Given the description of an element on the screen output the (x, y) to click on. 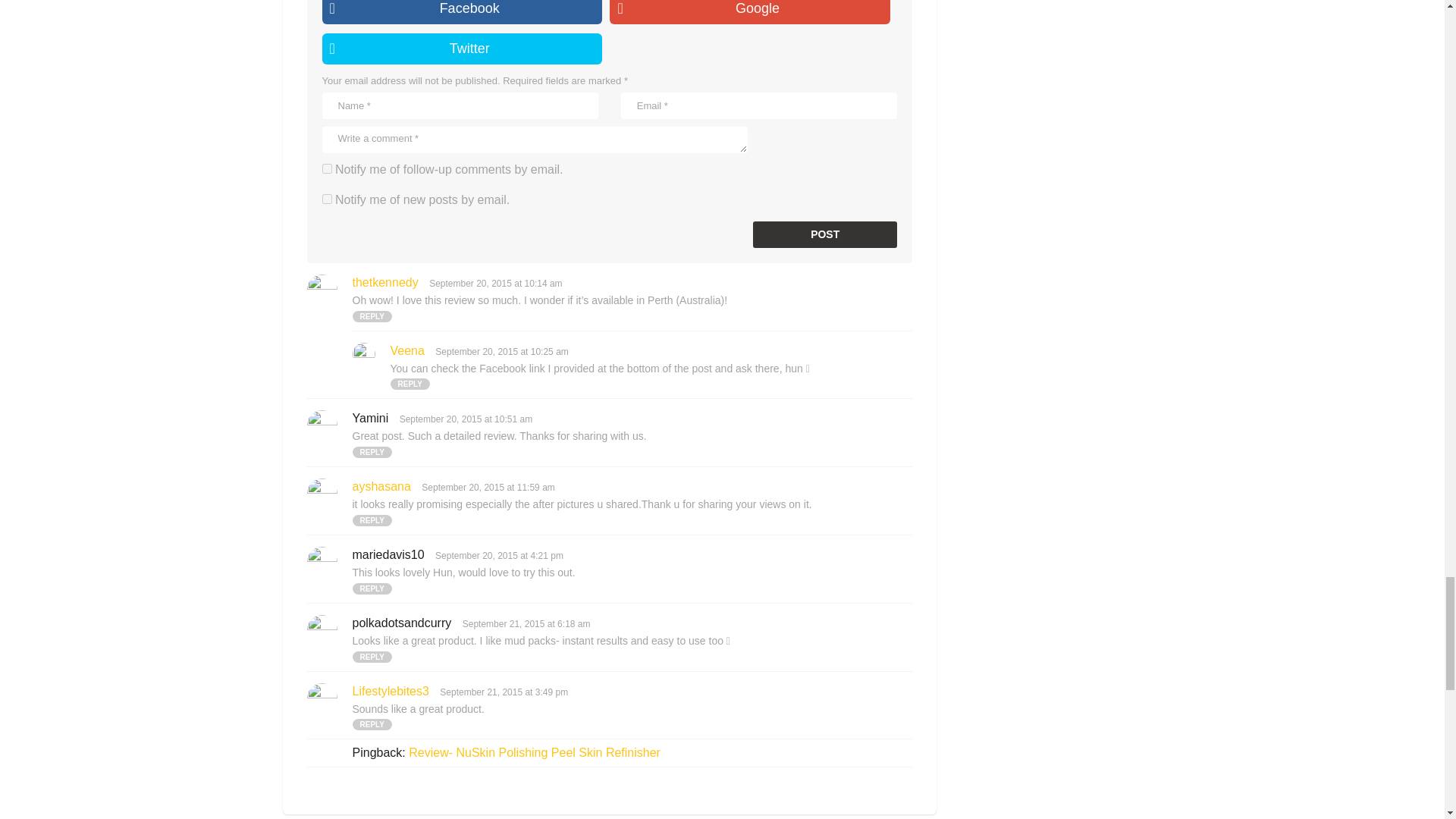
Post (824, 234)
subscribe (326, 198)
subscribe (326, 168)
